Given the description of an element on the screen output the (x, y) to click on. 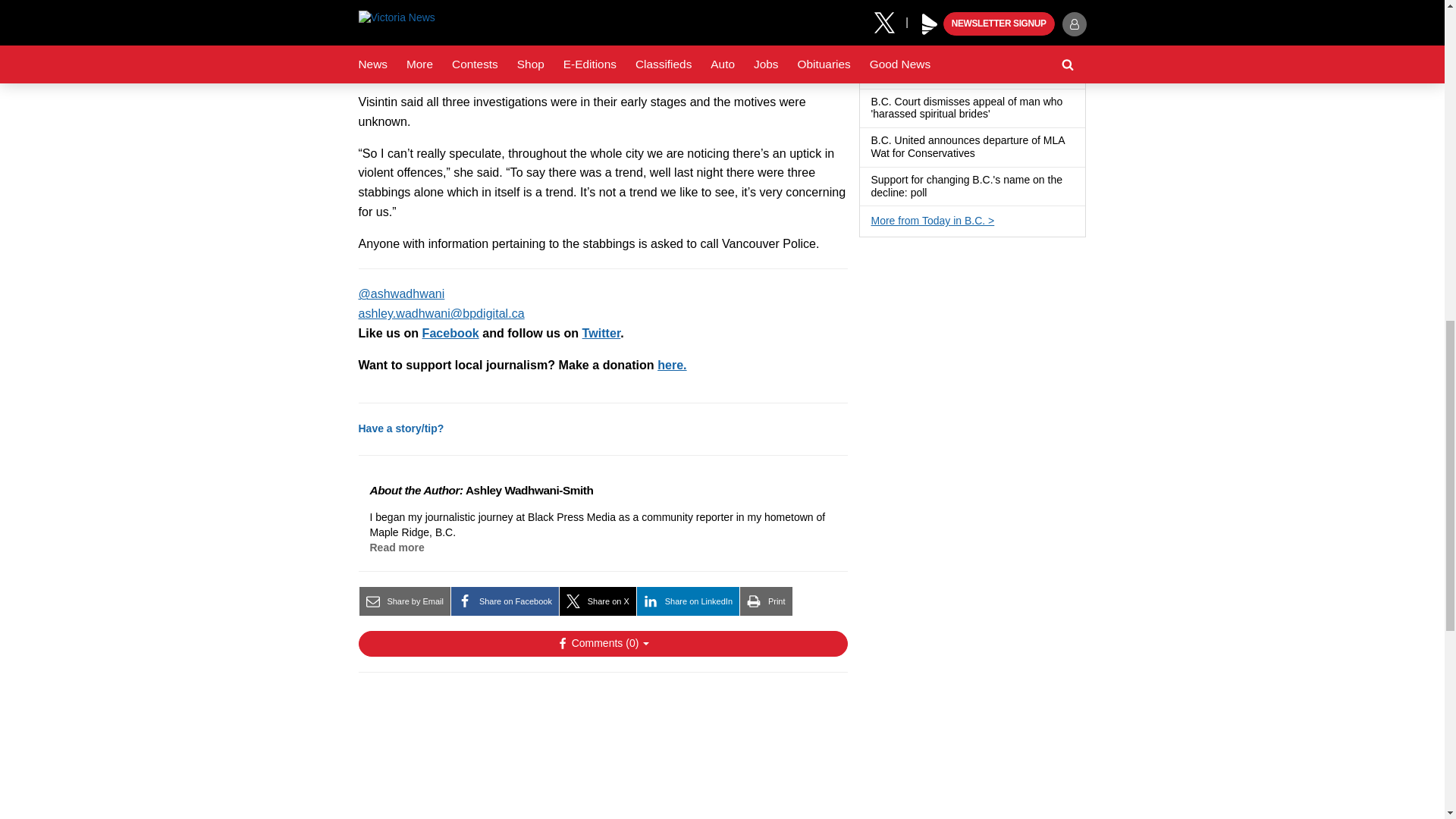
Show Comments (602, 643)
Has a gallery (984, 75)
